Given the description of an element on the screen output the (x, y) to click on. 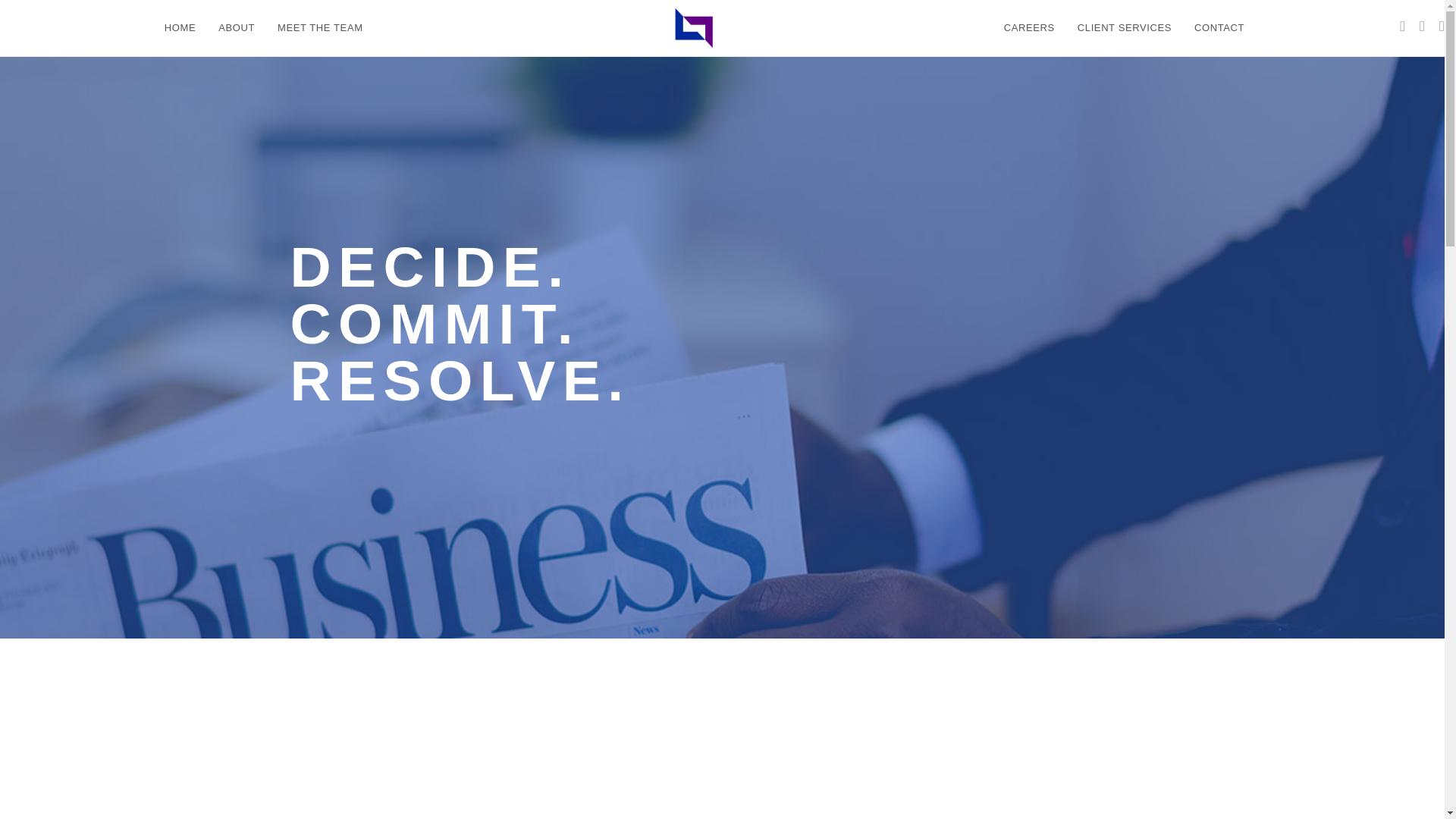
HOME (179, 28)
CLIENT SERVICES (1123, 28)
CAREERS (1028, 28)
MEET THE TEAM (320, 28)
CONTACT (1218, 28)
ABOUT (236, 28)
